Given the description of an element on the screen output the (x, y) to click on. 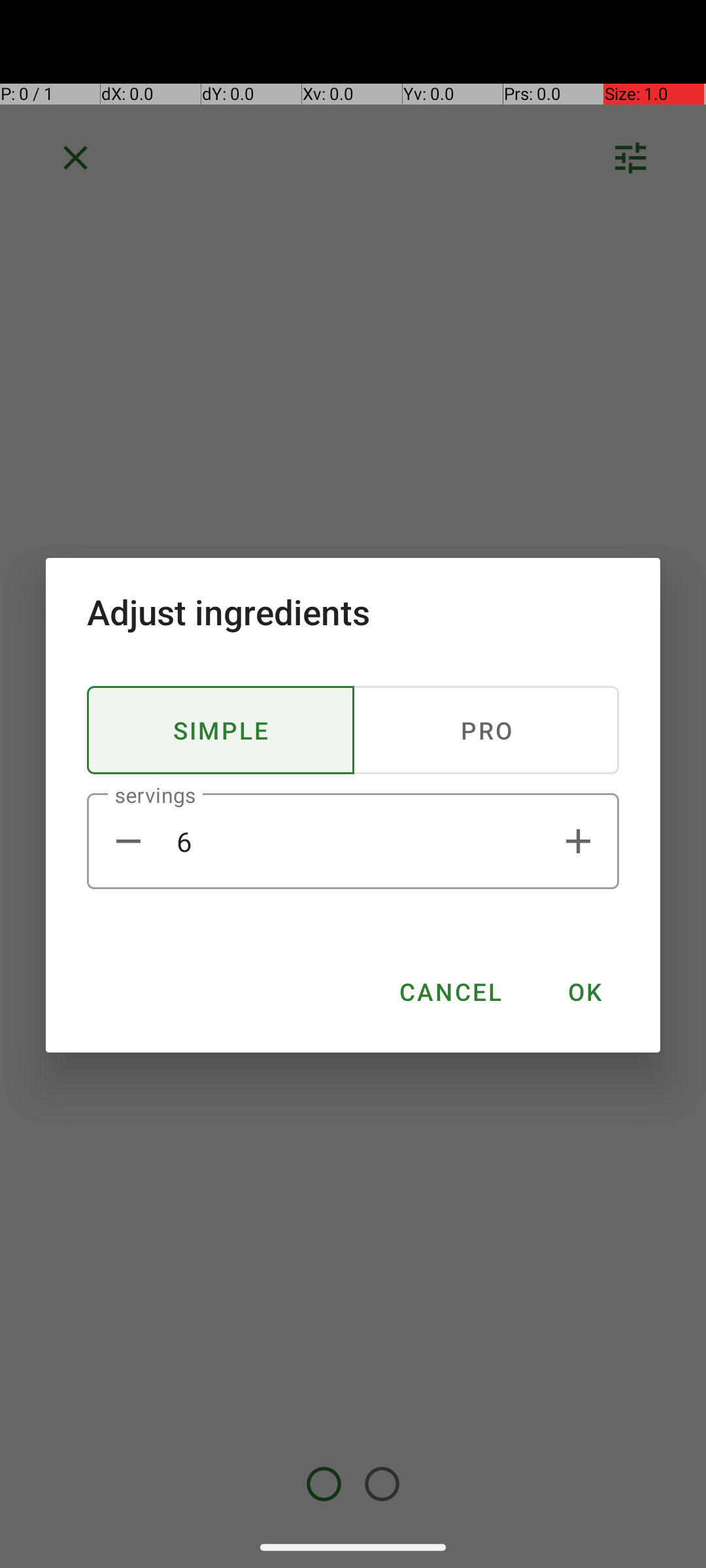
Adjust ingredients Element type: android.widget.TextView (352, 611)
SIMPLE Element type: android.widget.CompoundButton (220, 730)
PRO Element type: android.widget.CompoundButton (485, 730)
